Given the description of an element on the screen output the (x, y) to click on. 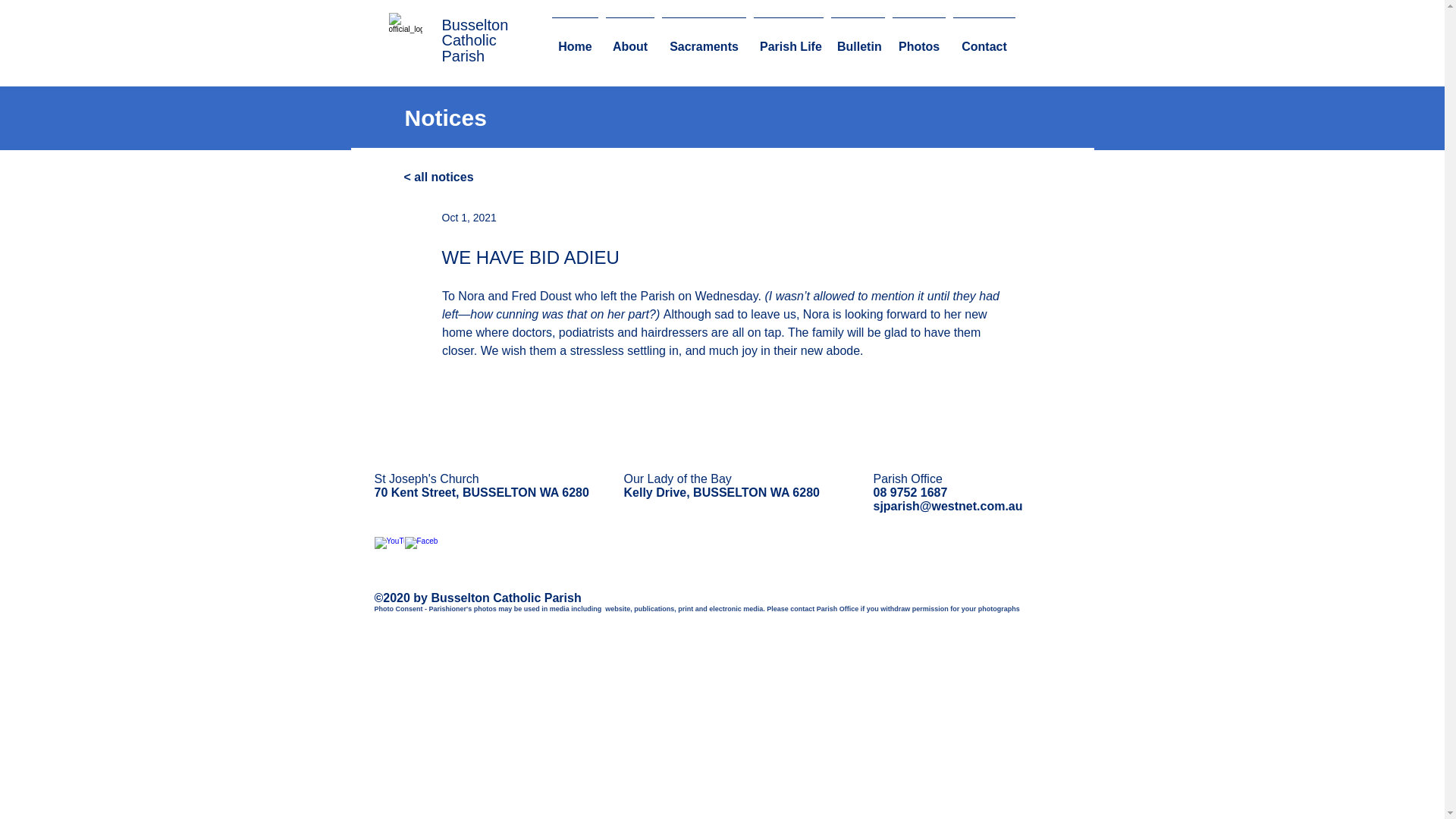
Oct 1, 2021 (468, 217)
Home (575, 40)
Busselton (474, 24)
Bulletin (857, 40)
Contact (984, 40)
